Given the description of an element on the screen output the (x, y) to click on. 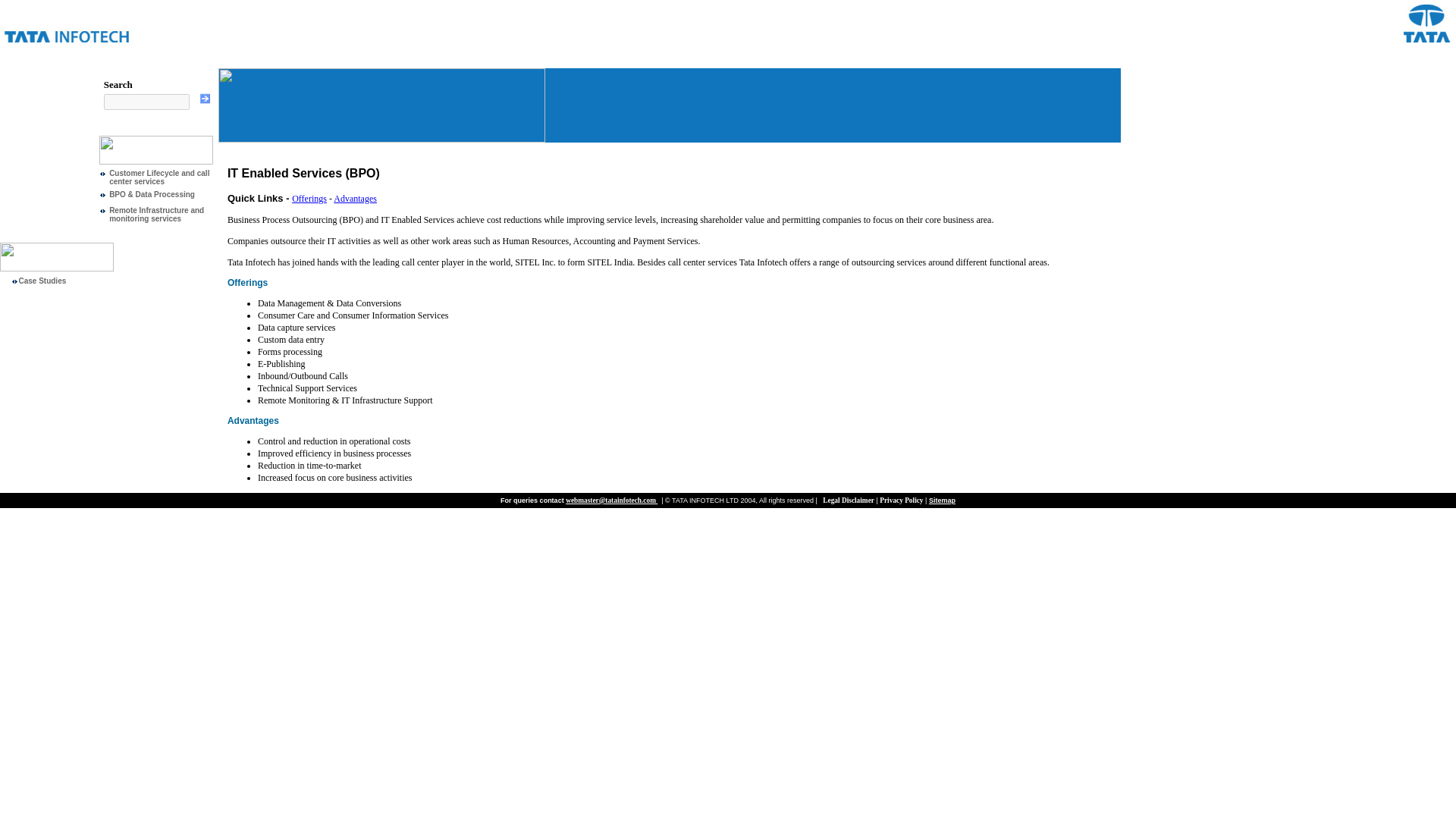
Privacy Policy (901, 500)
Remote Infrastructure and monitoring services (156, 214)
Legal Disclaimer (848, 500)
Offerings (309, 198)
Sitemap (941, 500)
Advantages (355, 198)
Case Studies (41, 280)
Customer Lifecycle and call center services (159, 176)
